Given the description of an element on the screen output the (x, y) to click on. 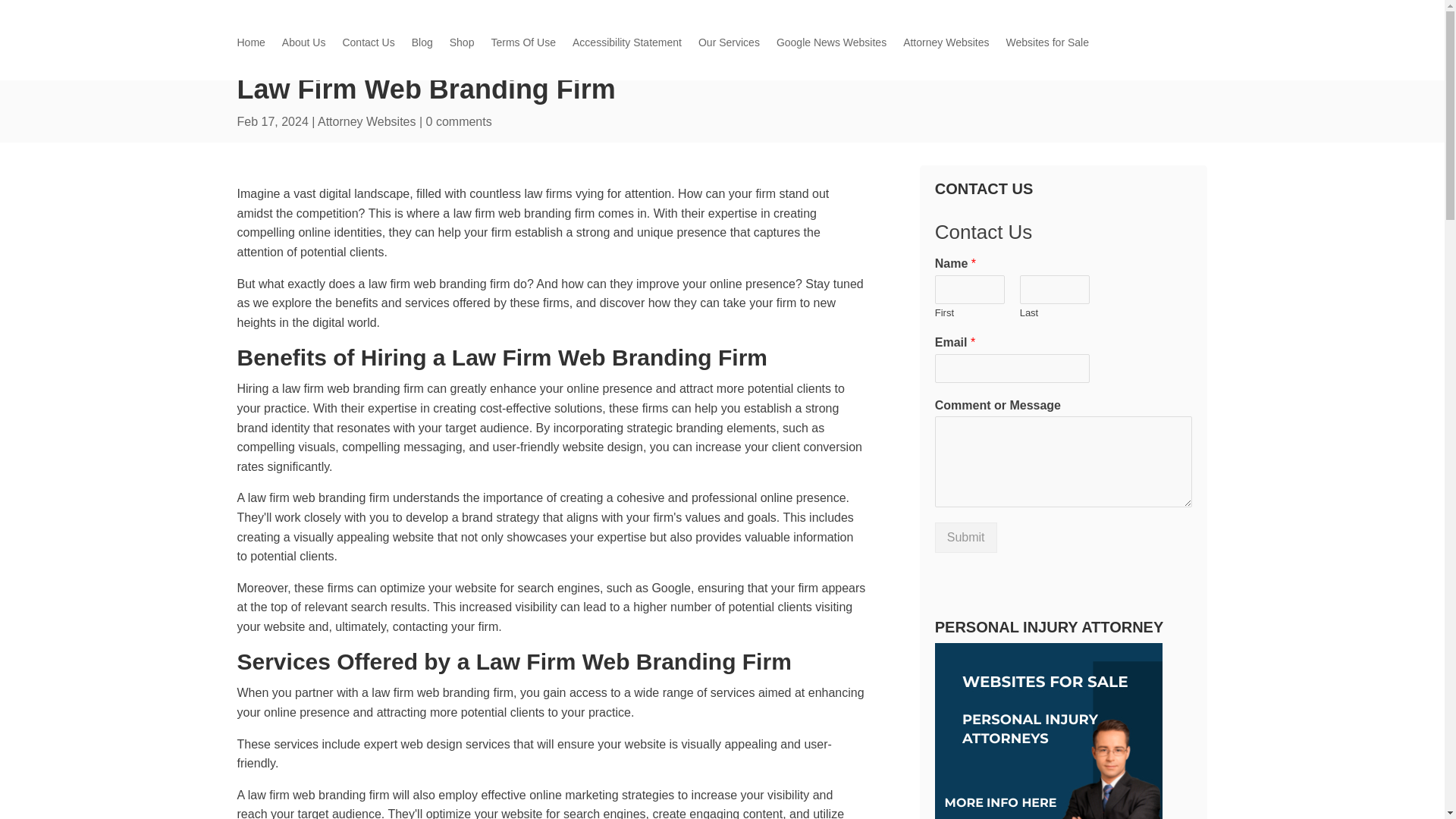
0 comments (459, 121)
Submit (965, 537)
Attorney Websites (945, 45)
Websites for Sale (1046, 45)
Blog (422, 45)
Our Services (729, 45)
Home (249, 45)
Accessibility Statement (626, 45)
About Us (304, 45)
Shop (461, 45)
